Given the description of an element on the screen output the (x, y) to click on. 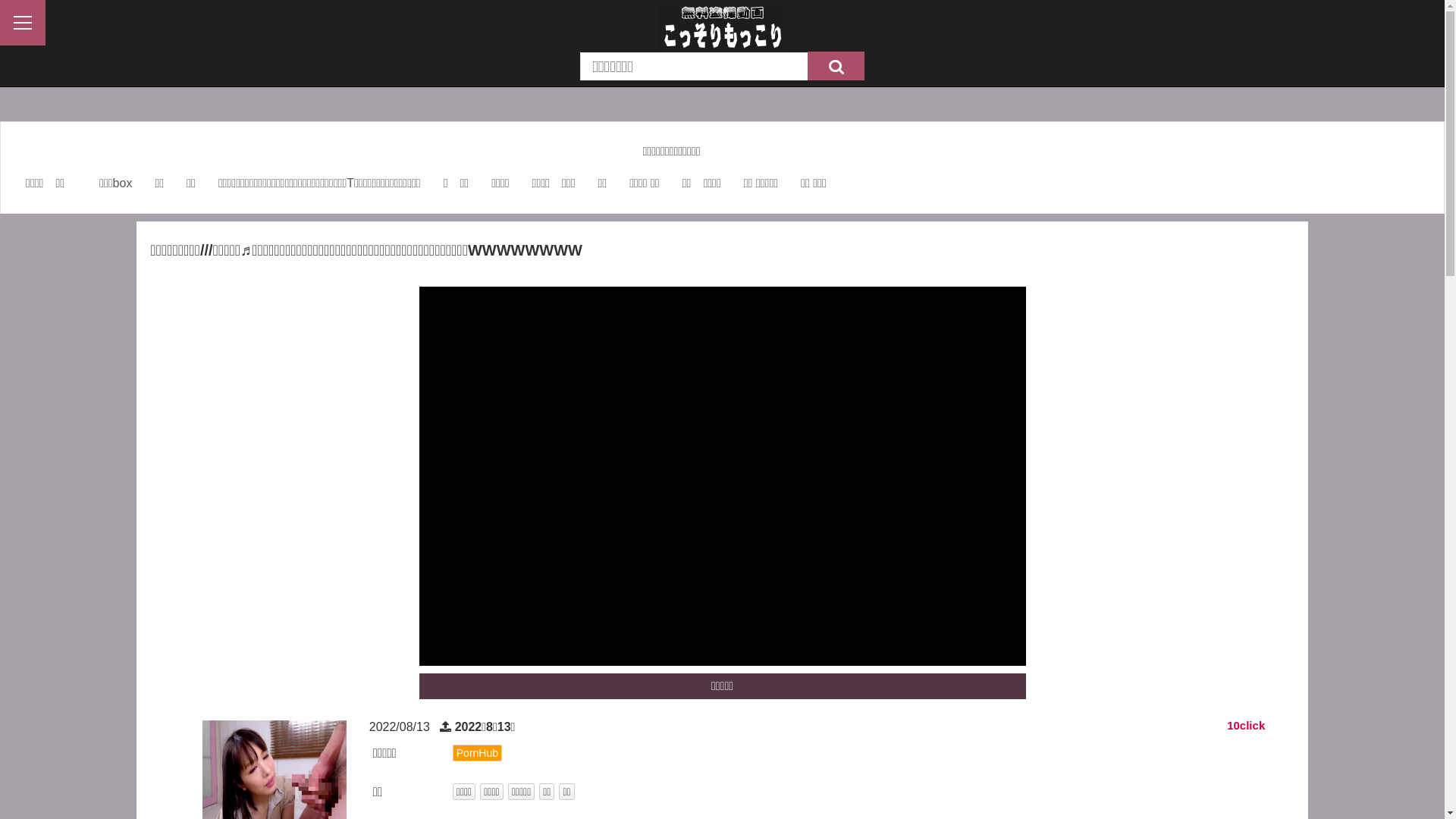
PornHub Element type: text (477, 752)
